Given the description of an element on the screen output the (x, y) to click on. 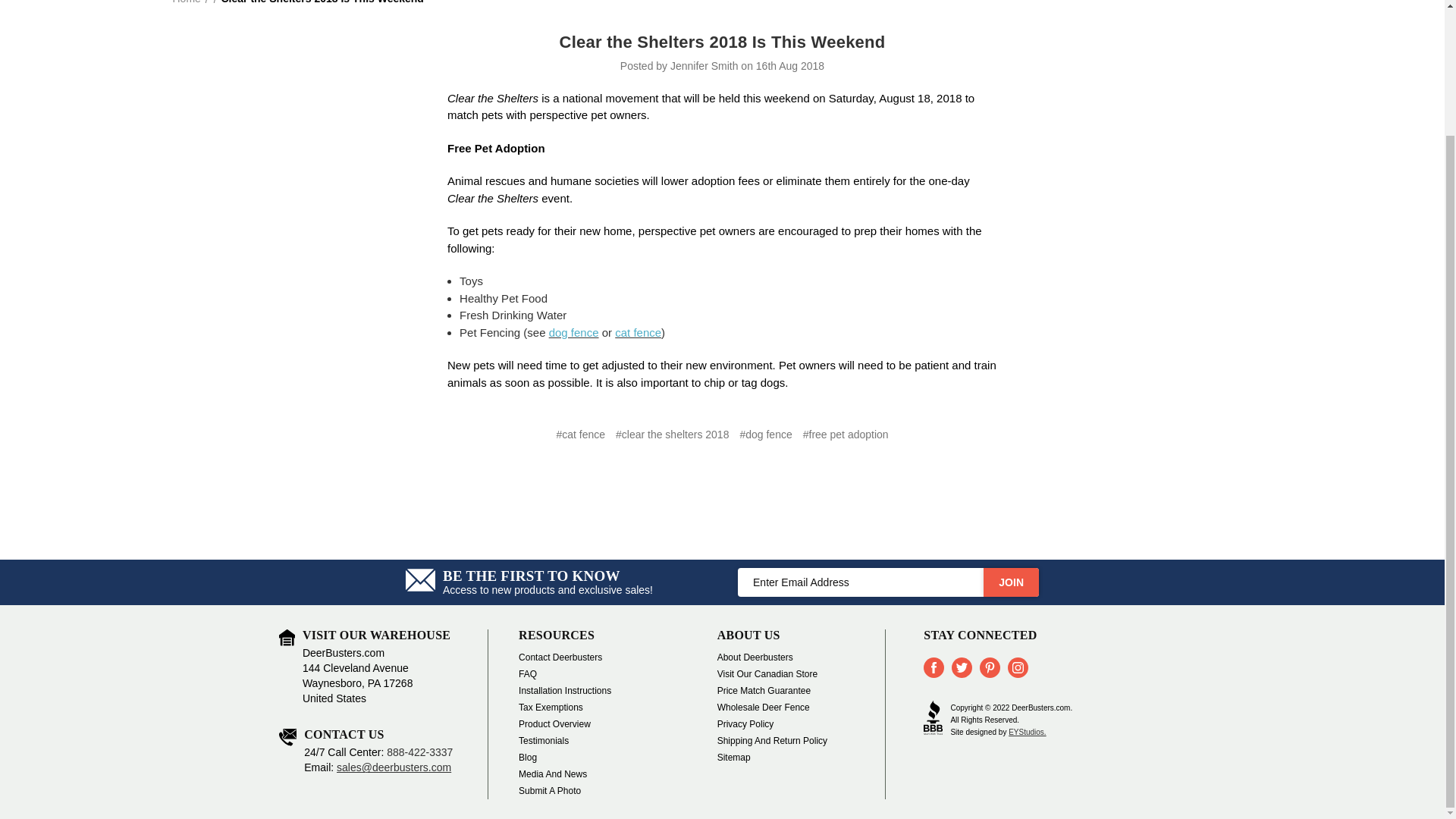
Pinterest (989, 667)
Instagram (1017, 667)
Facebook (933, 667)
Join (1011, 582)
Twitter (962, 667)
